Given the description of an element on the screen output the (x, y) to click on. 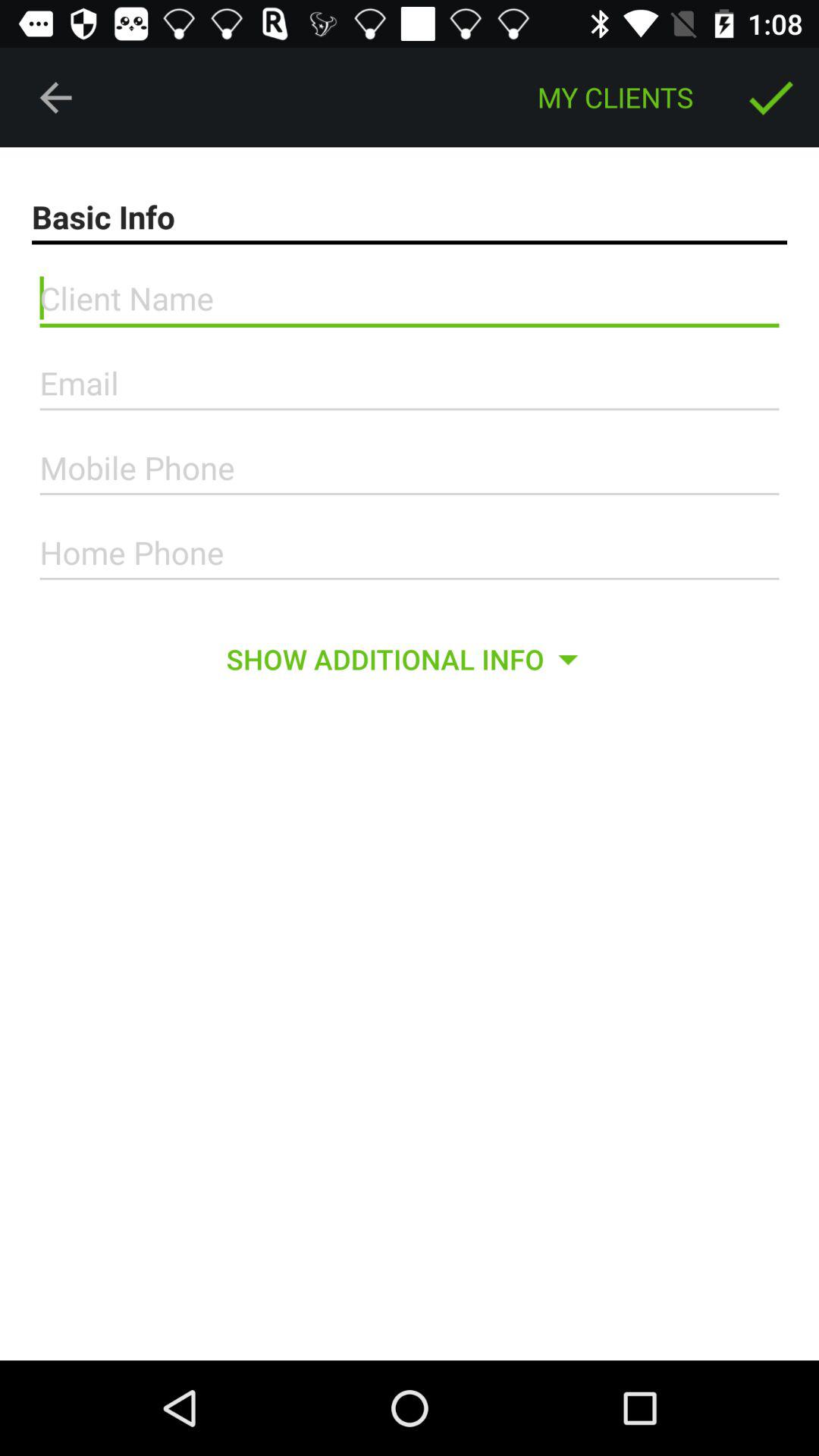
edit client name (409, 298)
